Given the description of an element on the screen output the (x, y) to click on. 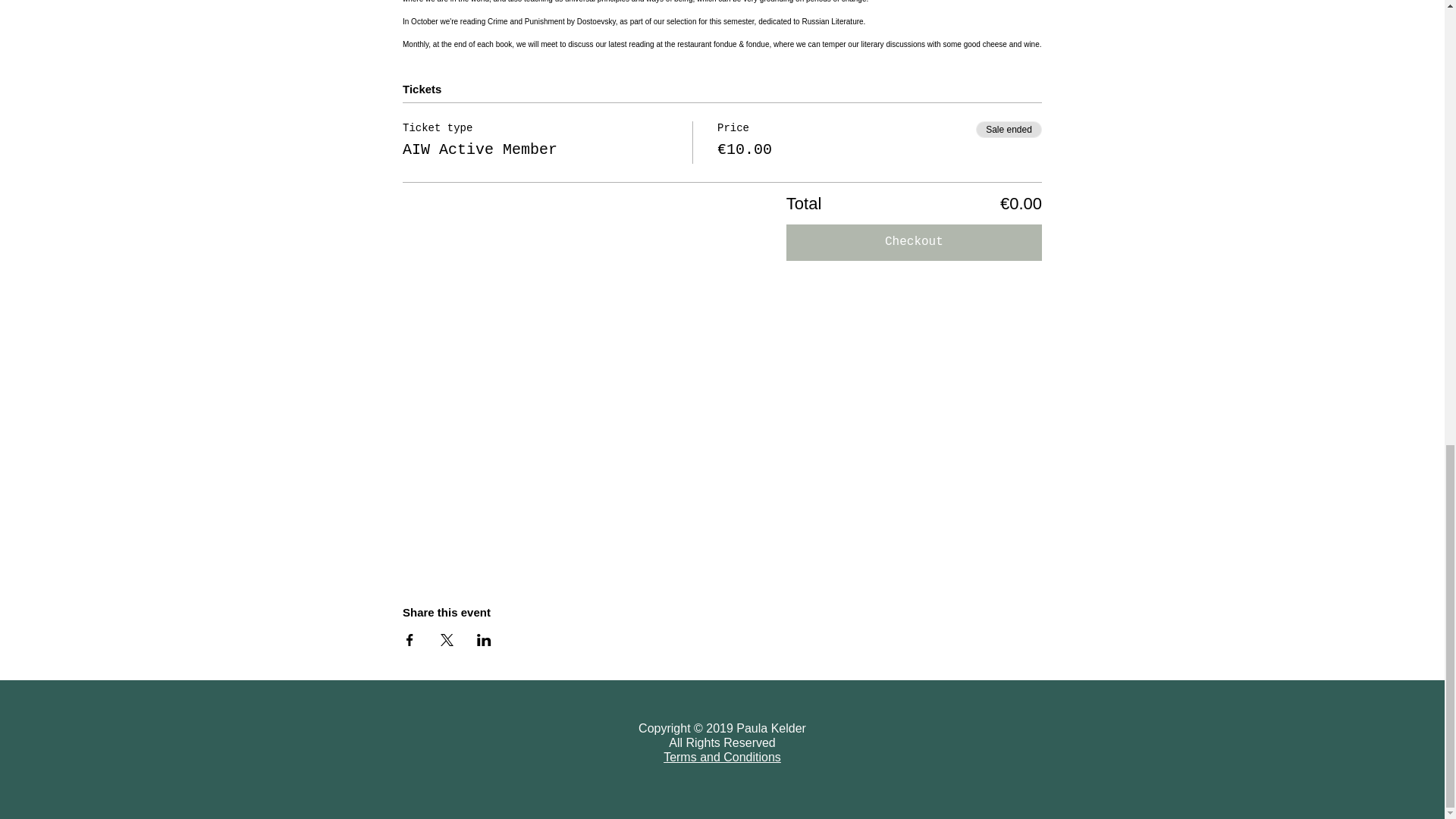
Terms and Conditions (721, 757)
Checkout (914, 242)
